Given the description of an element on the screen output the (x, y) to click on. 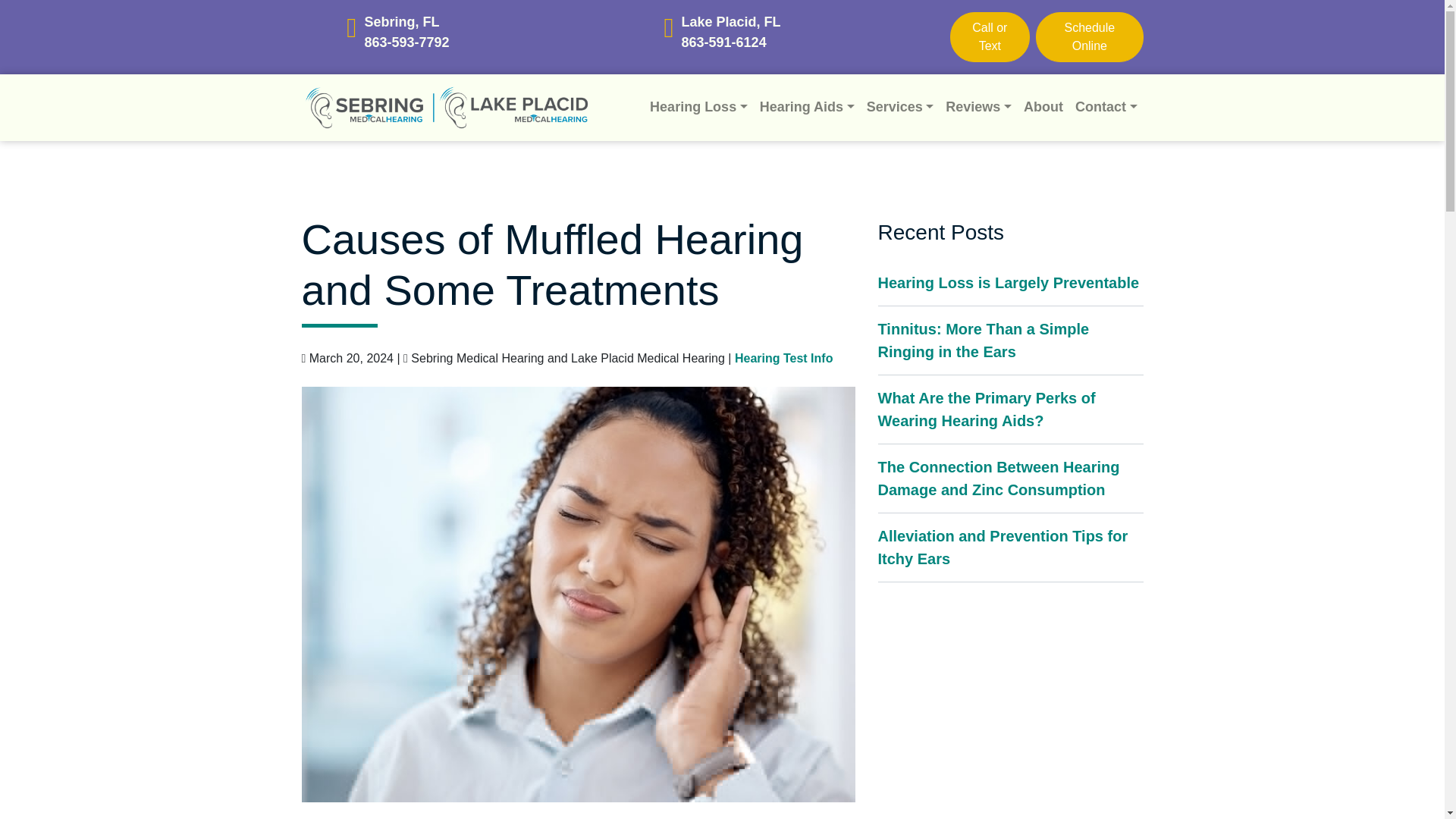
Hearing Loss (698, 106)
About (1042, 106)
Hearing Aids (807, 106)
863-593-7792 (407, 42)
Hearing Test Info (783, 358)
Sebring, FL (407, 22)
Lake Placid, FL (730, 22)
863-591-6124 (730, 42)
Schedule Online (1088, 37)
Reviews (978, 106)
